Given the description of an element on the screen output the (x, y) to click on. 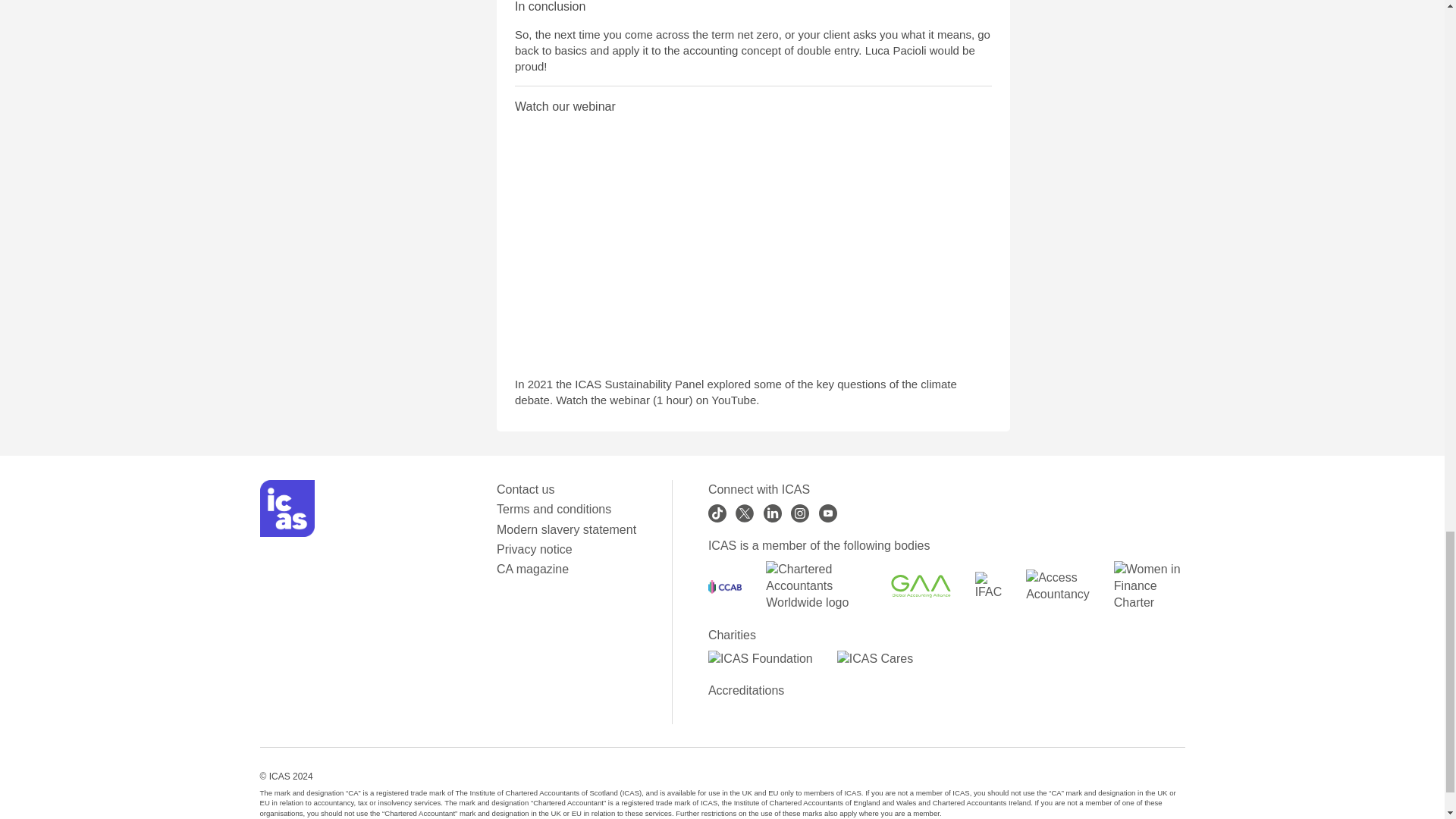
International Federation of Accountants (989, 585)
Twitter Icon (744, 513)
Access Accountancy (1057, 586)
ICAS Foundation (759, 658)
Women in Finance Charter (1149, 586)
YouTube video player (727, 245)
ICAS Cares (874, 658)
Chartered Accountants Worldwide (815, 586)
Consultative Committee of Accountancy Bodies (724, 586)
